Given the description of an element on the screen output the (x, y) to click on. 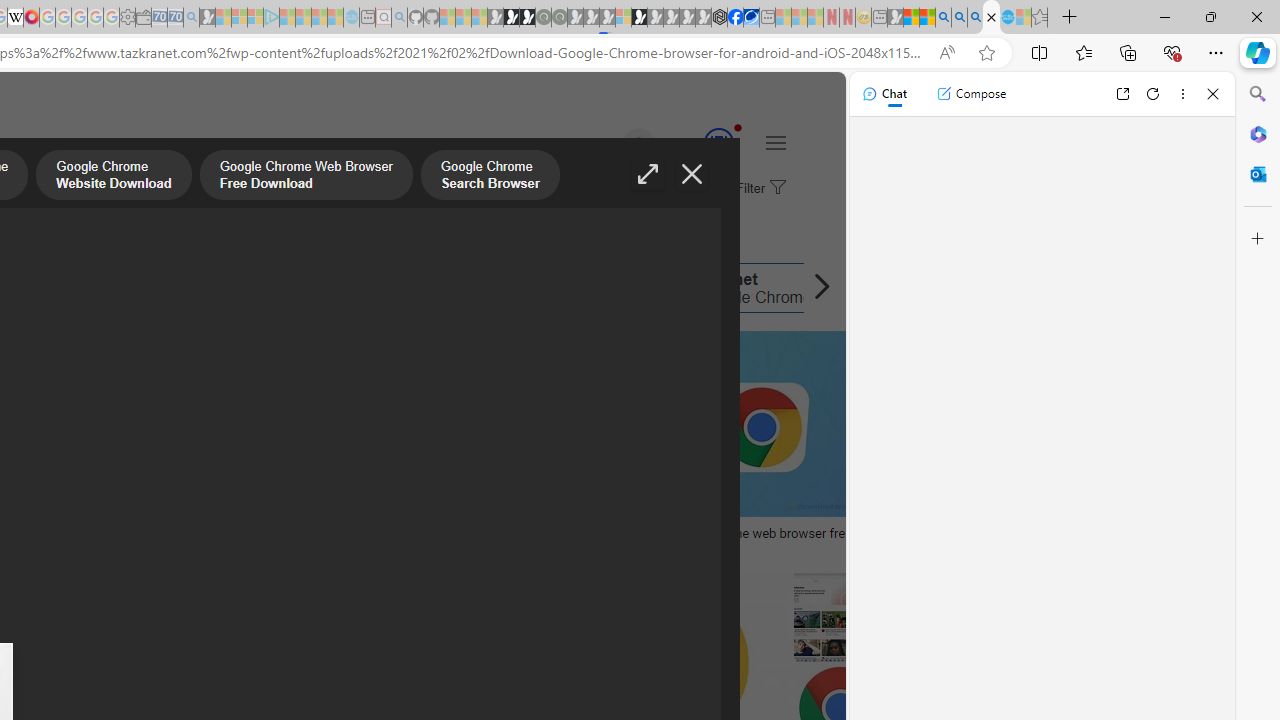
Google Chrome Search Browser (489, 177)
